Given the description of an element on the screen output the (x, y) to click on. 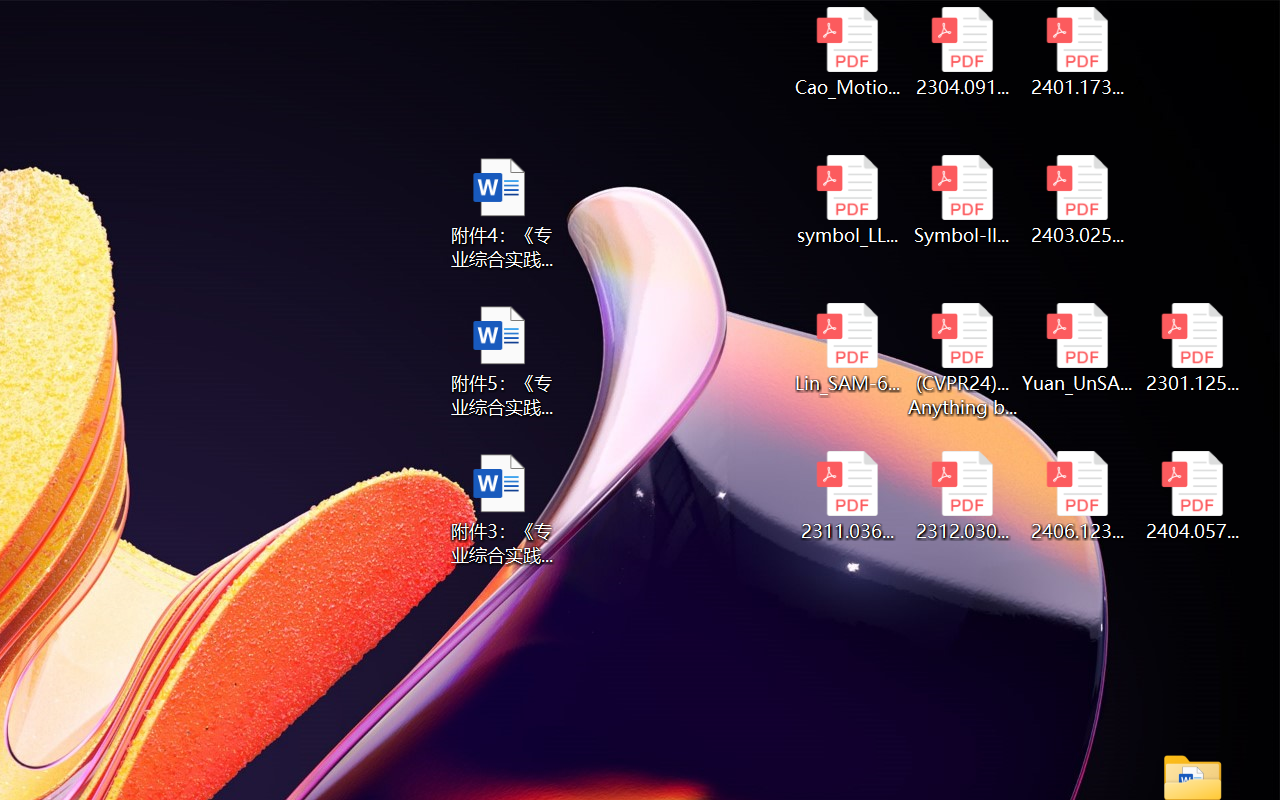
symbol_LLM.pdf (846, 200)
